Given the description of an element on the screen output the (x, y) to click on. 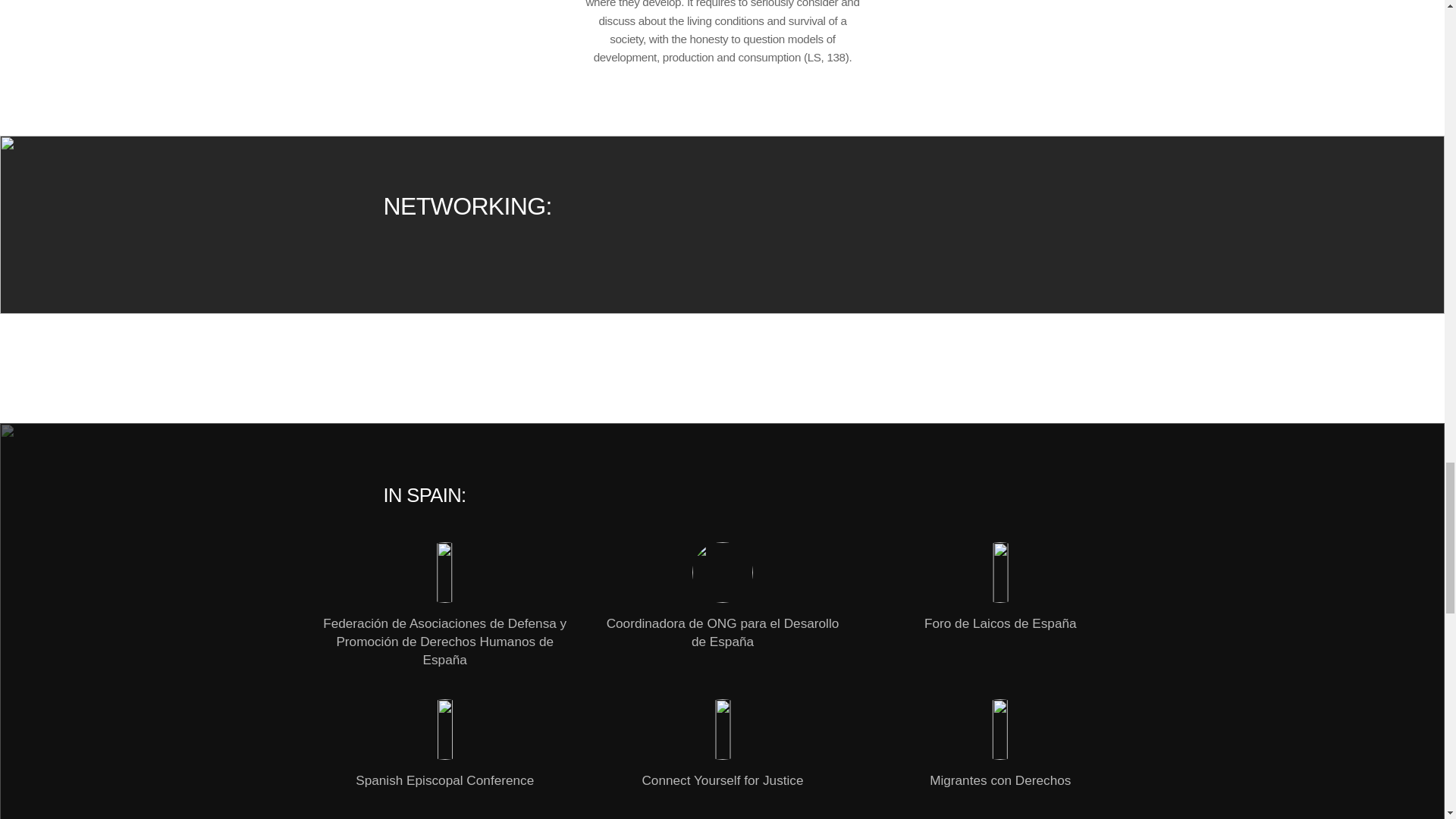
Connect Yourself for Justice (721, 744)
Migrantes con Derechos (1000, 744)
Spanish Episcopal Conference (443, 744)
